Given the description of an element on the screen output the (x, y) to click on. 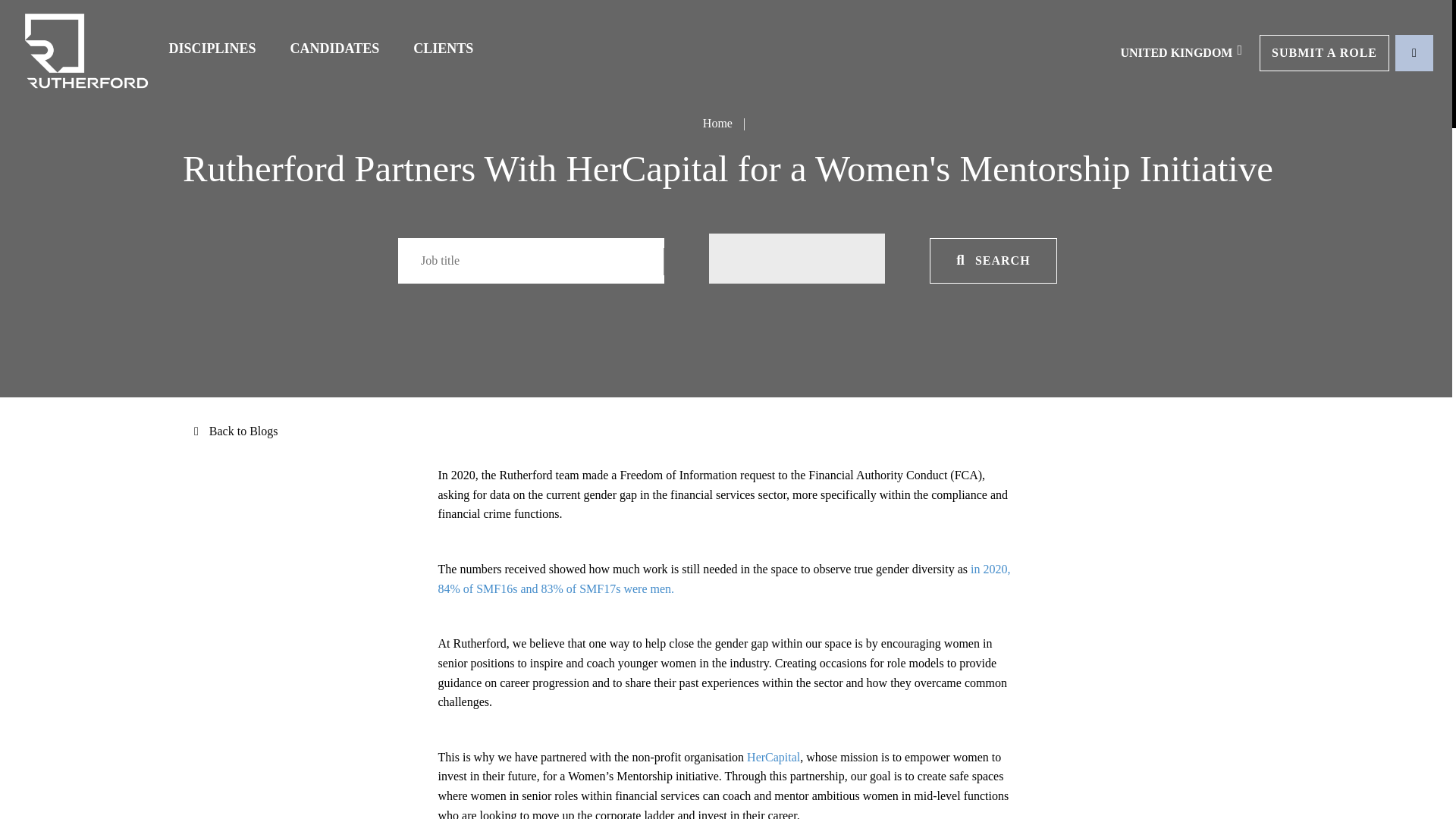
SEARCH (993, 260)
HerCapital (772, 757)
CLIENTS (443, 48)
SUBMIT A ROLE (1324, 51)
Home (717, 123)
Back to Blogs (727, 431)
CANDIDATES (334, 48)
DISCIPLINES (212, 48)
